Given the description of an element on the screen output the (x, y) to click on. 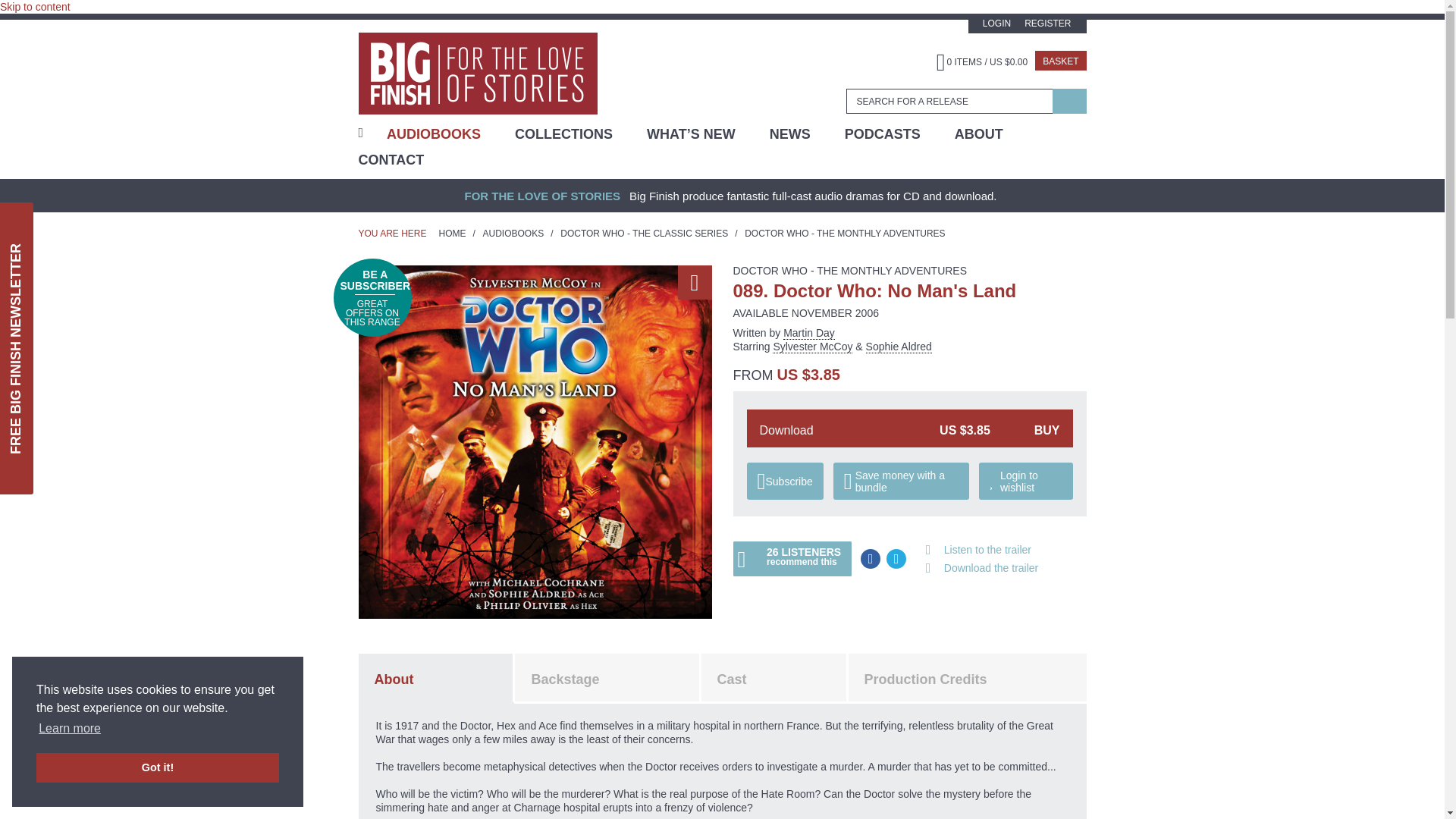
Skip to content (34, 6)
Martin Day (808, 332)
AUDIOBOOKS (433, 133)
Search (1069, 100)
Doctor Who - The Monthly Adventures (849, 270)
Doctor Who - The Monthly Adventures (844, 233)
Sylvester McCoy (818, 346)
Sophie Aldred (898, 346)
Got it! (157, 767)
FREE BIG FINISH NEWSLETTER (136, 227)
Learn more (69, 728)
LOGIN (996, 22)
Doctor Who: No Man's Land (534, 442)
REGISTER (1047, 22)
